Given the description of an element on the screen output the (x, y) to click on. 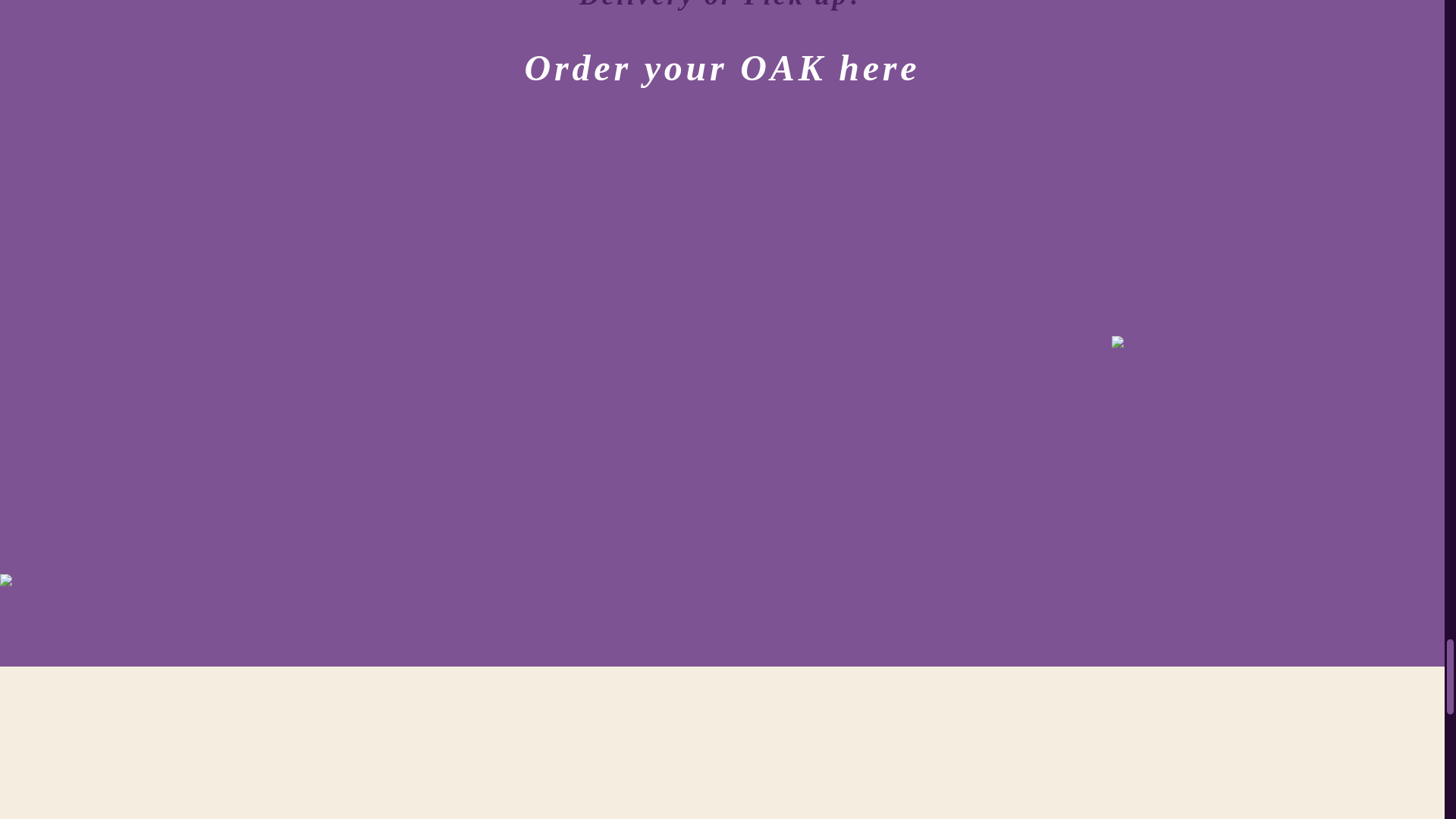
Order your OAK here (722, 55)
Order your OAK here (722, 68)
